Given the description of an element on the screen output the (x, y) to click on. 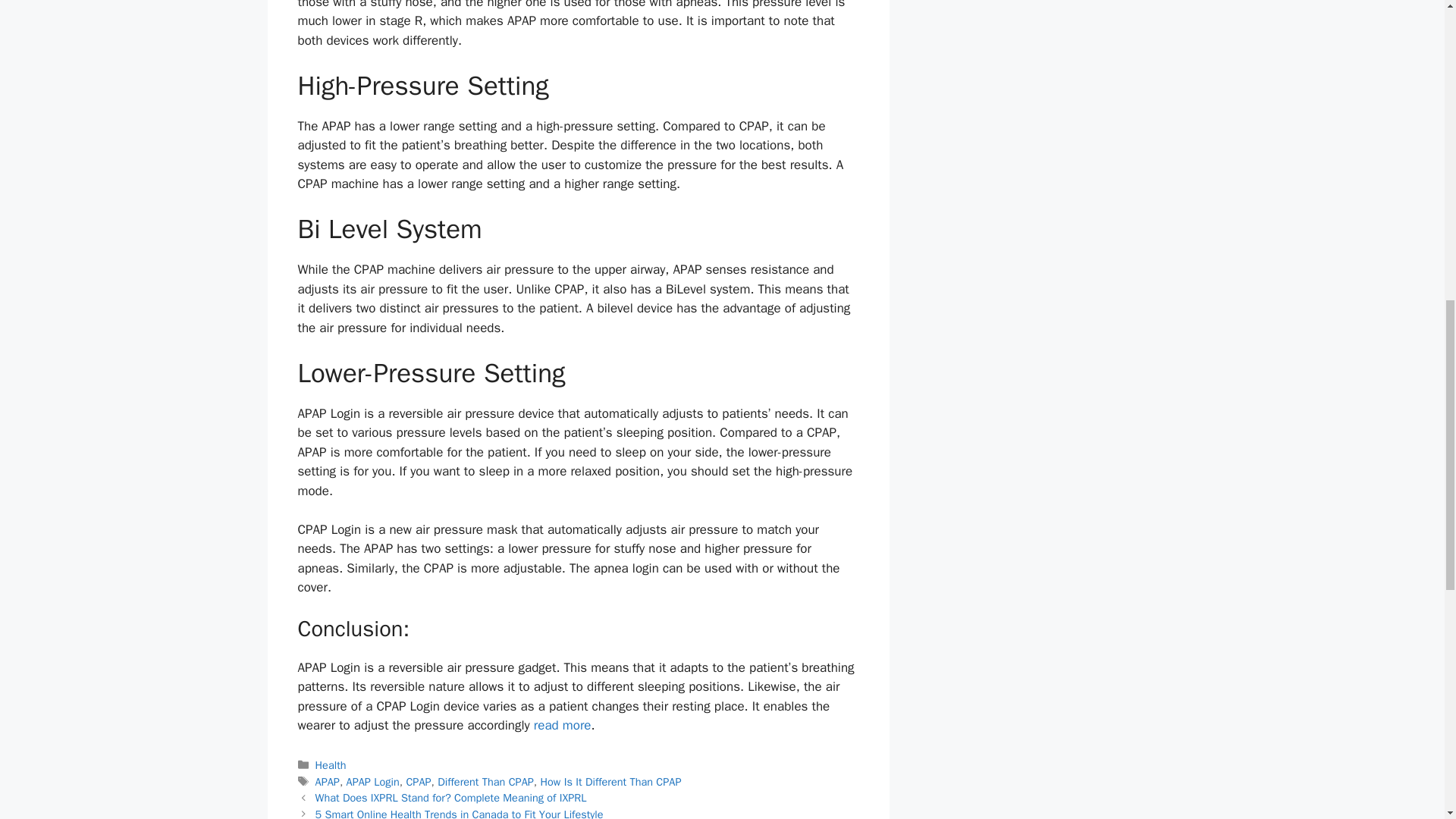
APAP (327, 781)
read more (562, 725)
5 Smart Online Health Trends in Canada to Fit Your Lifestyle (459, 813)
APAP Login (372, 781)
How Is It Different Than CPAP (610, 781)
CPAP (418, 781)
Different Than CPAP (486, 781)
Health (330, 765)
What Does IXPRL Stand for? Complete Meaning of IXPRL (450, 797)
